Given the description of an element on the screen output the (x, y) to click on. 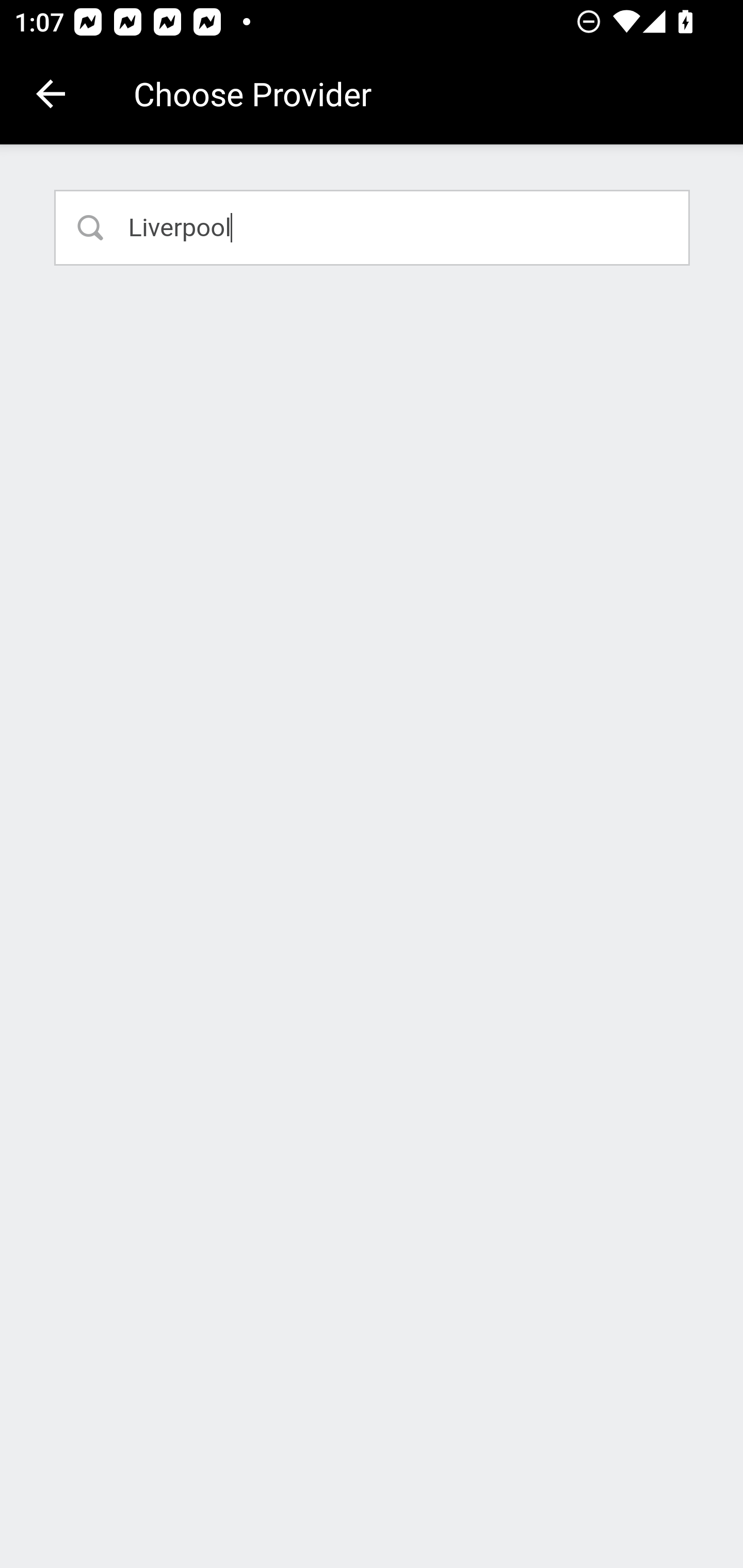
Navigate up (50, 93)
Liverpool (372, 227)
